Given the description of an element on the screen output the (x, y) to click on. 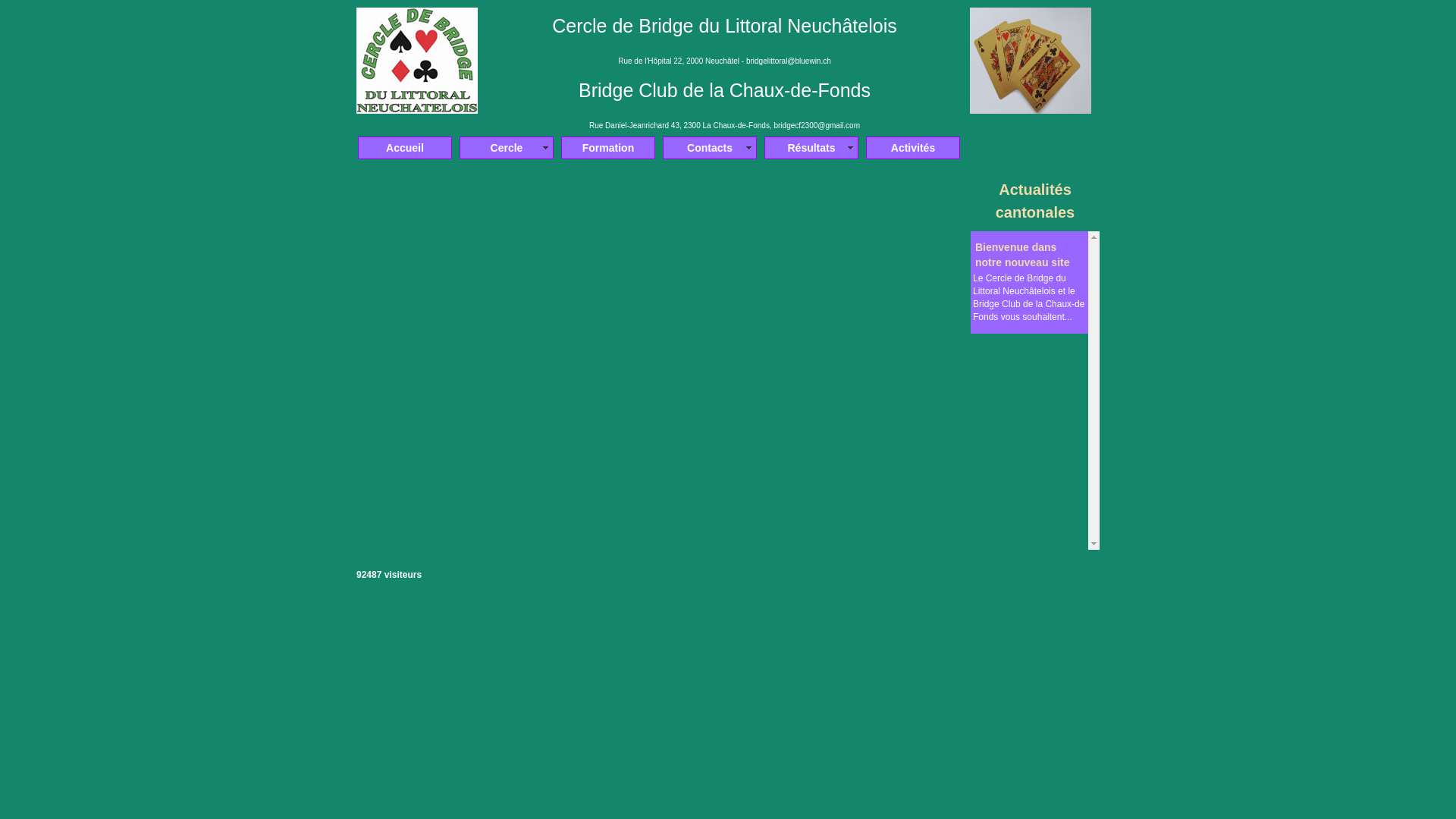
Formation Element type: text (608, 147)
Cercle Element type: text (506, 147)
Accueil Element type: text (404, 147)
Contacts Element type: text (709, 147)
